Given the description of an element on the screen output the (x, y) to click on. 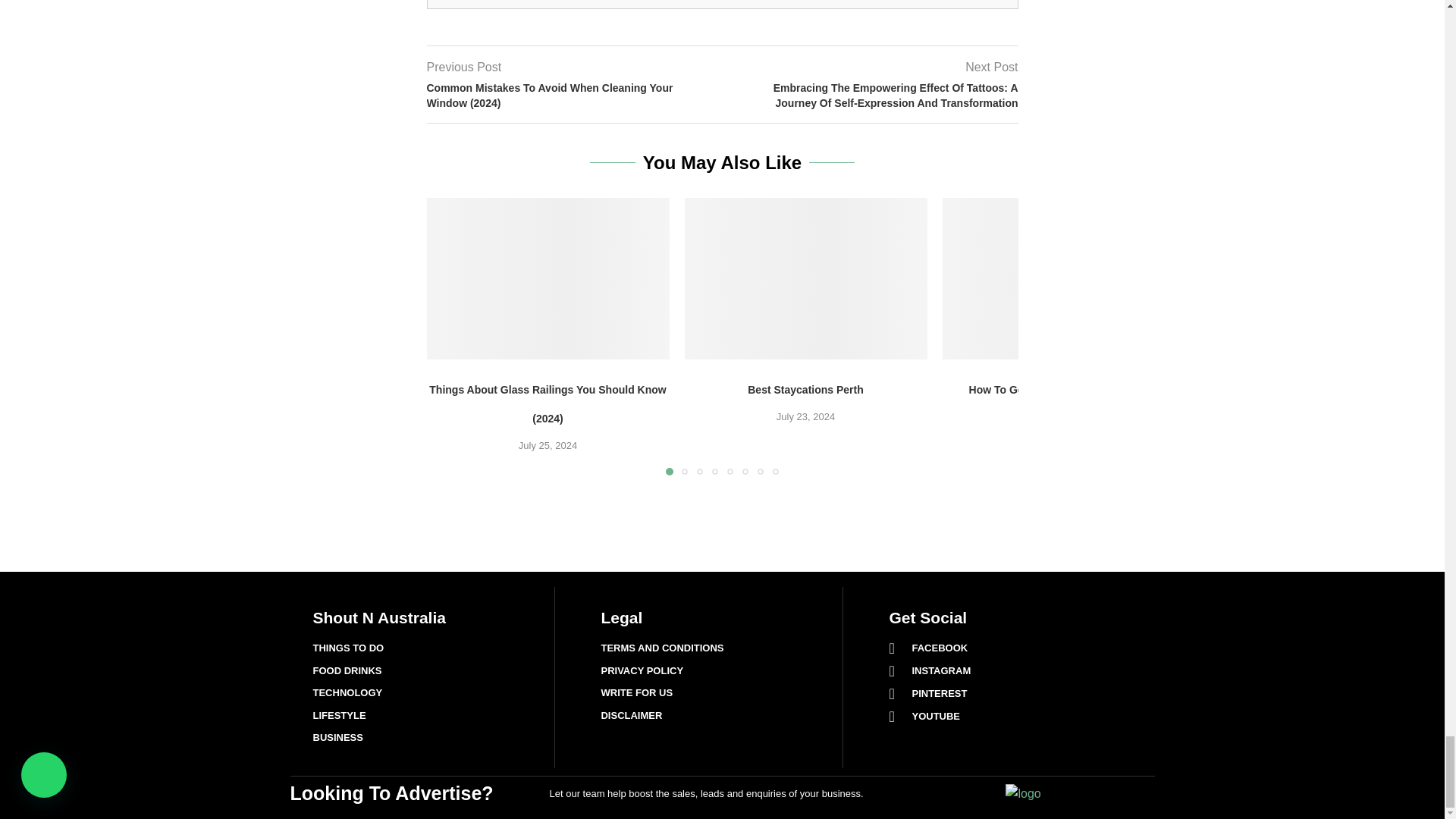
Best Staycations Perth (805, 278)
How To Get Rid Of Wet Carpet Smell? (1063, 278)
logo (1023, 793)
